Given the description of an element on the screen output the (x, y) to click on. 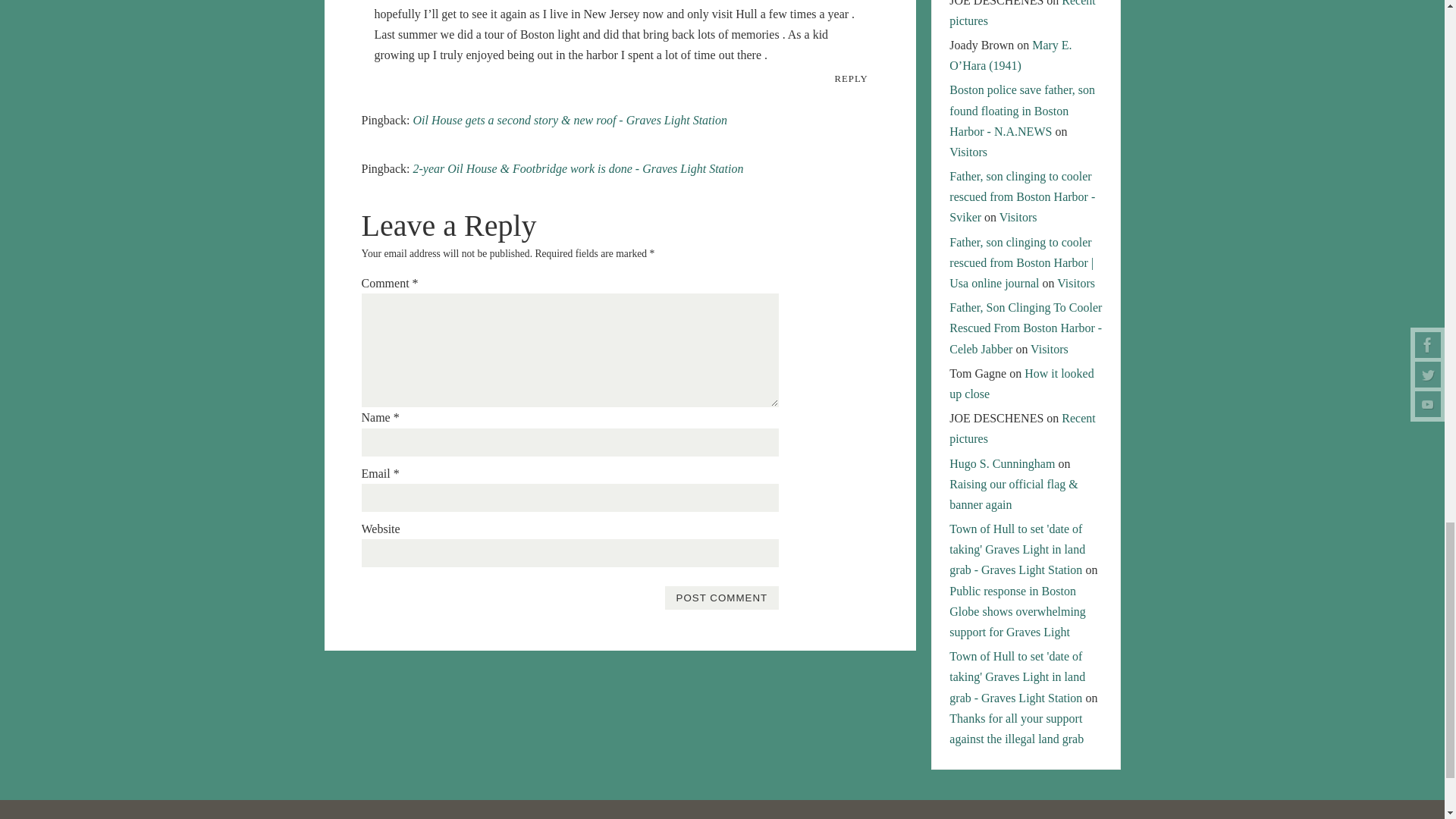
Post Comment (721, 597)
